Given the description of an element on the screen output the (x, y) to click on. 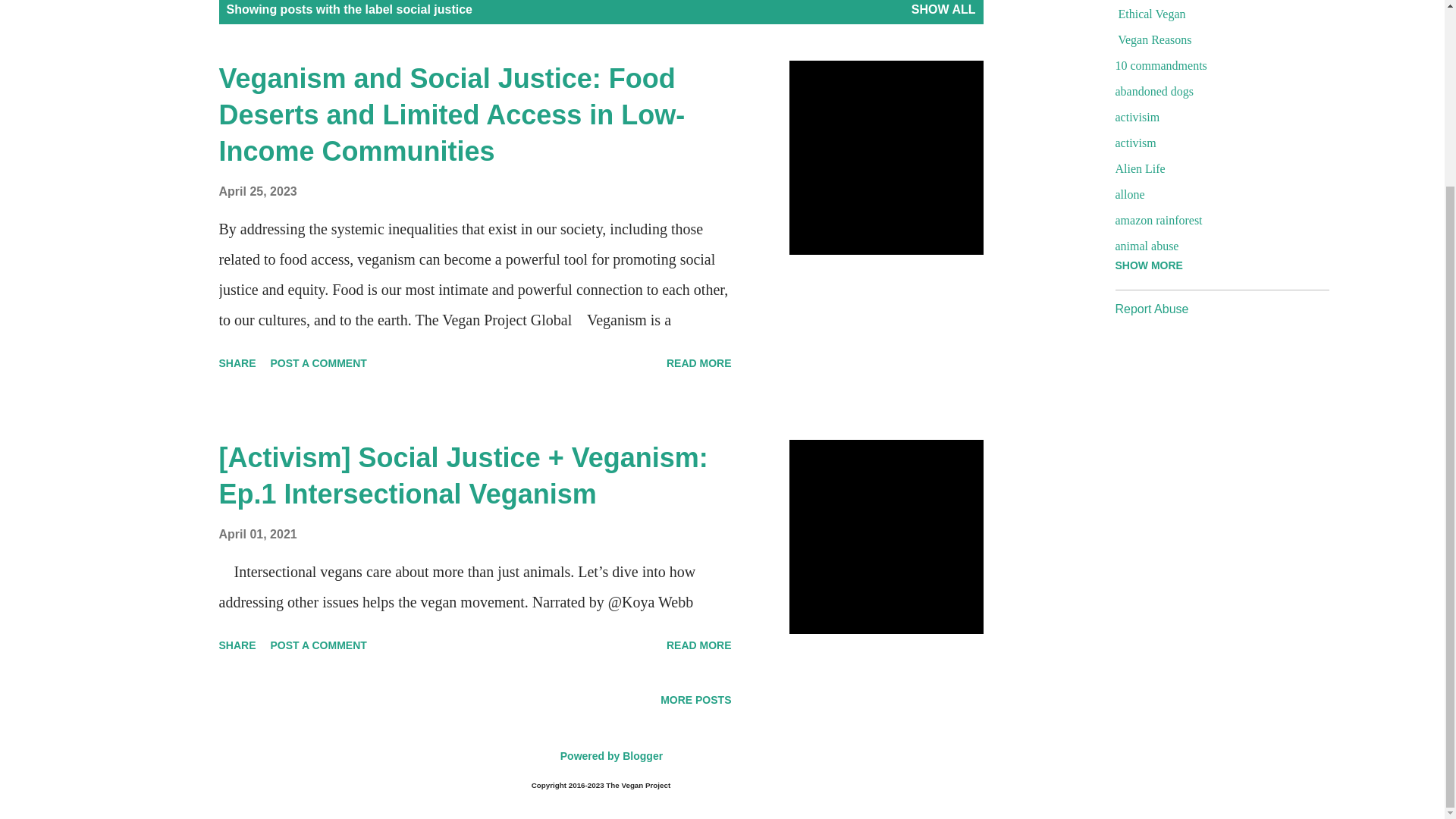
Alien Life (1215, 169)
POST A COMMENT (318, 645)
April 25, 2023 (257, 191)
Vegan Reasons (1215, 39)
permanent link (257, 533)
SHOW ALL (943, 9)
April 01, 2021 (257, 533)
SHARE (237, 363)
SHARE (237, 645)
READ MORE (699, 645)
activisim (1215, 117)
Ethical Vegan (1215, 14)
abandoned dogs (1215, 91)
MORE POSTS (694, 699)
activism (1215, 142)
